Given the description of an element on the screen output the (x, y) to click on. 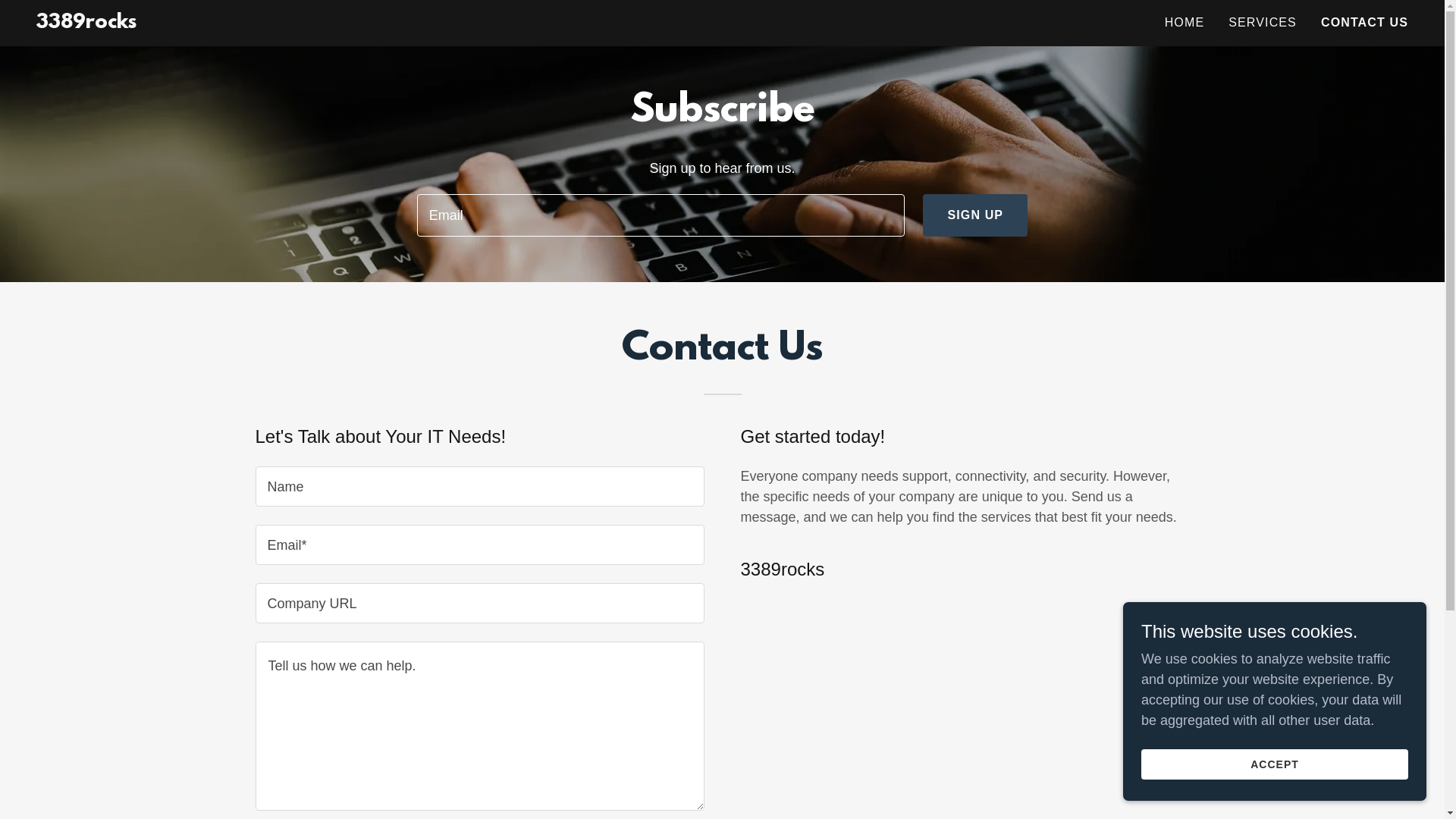
SIGN UP Element type: text (974, 215)
HOME Element type: text (1184, 22)
SERVICES Element type: text (1262, 22)
ACCEPT Element type: text (1274, 764)
CONTACT US Element type: text (1364, 22)
3389rocks Element type: text (86, 23)
